Given the description of an element on the screen output the (x, y) to click on. 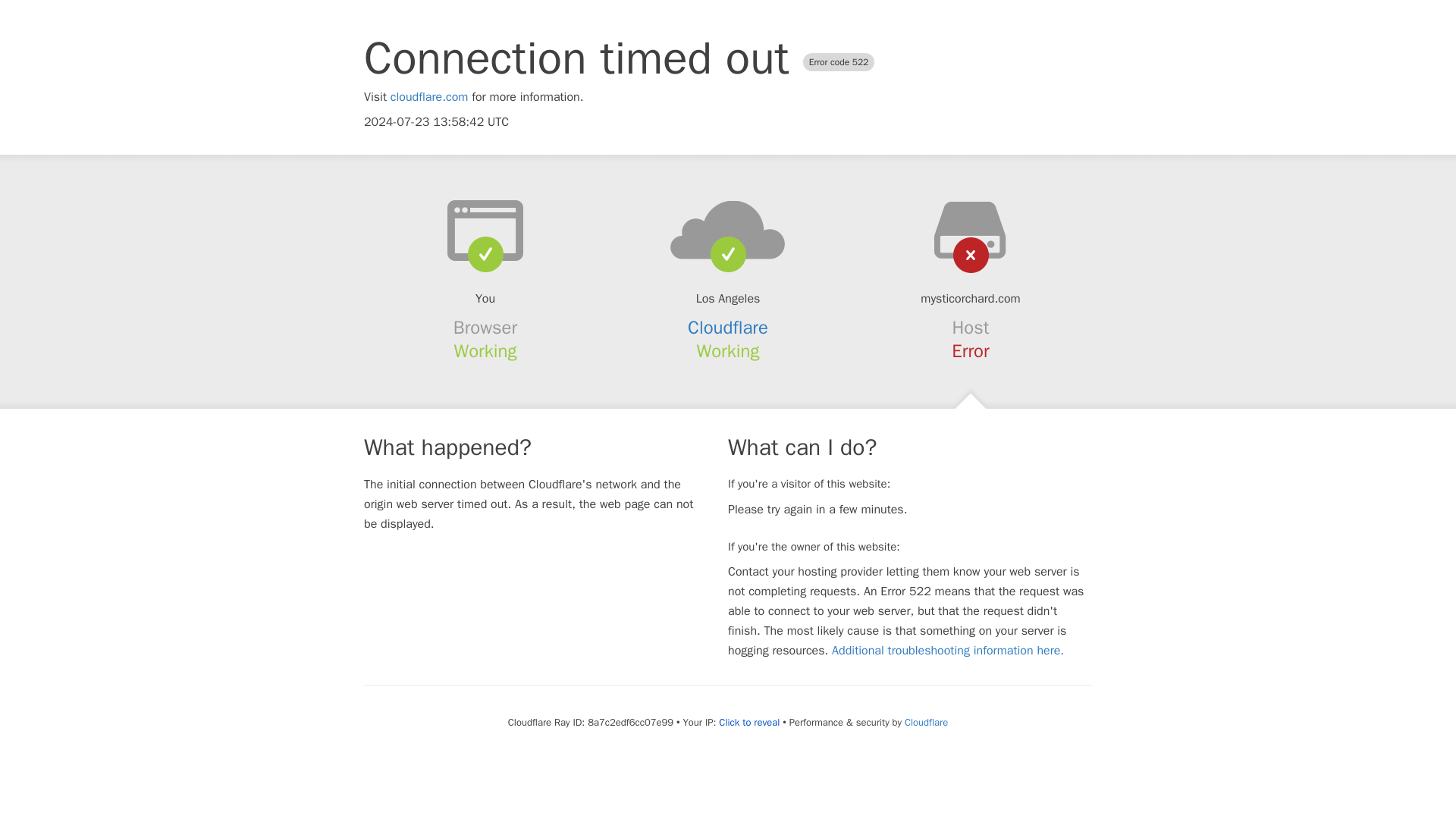
cloudflare.com (429, 96)
Click to reveal (748, 722)
Additional troubleshooting information here. (947, 650)
Cloudflare (925, 721)
Cloudflare (727, 327)
